Given the description of an element on the screen output the (x, y) to click on. 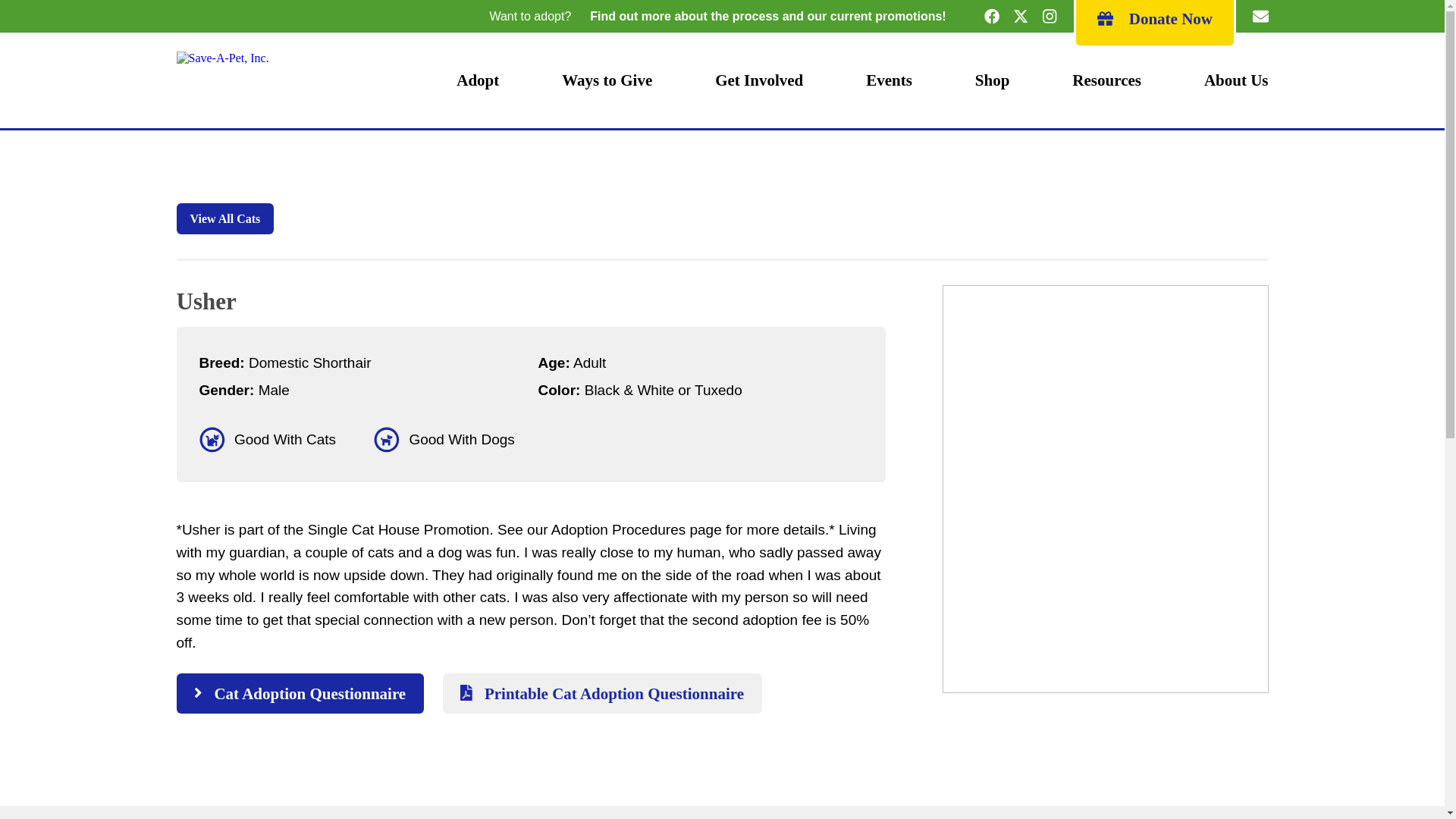
Events (888, 79)
Get Involved (758, 79)
Shop (992, 79)
Ways to Give (606, 79)
Adopt (478, 79)
Find out more about the process and our current promotions! (766, 15)
Donate Now (1154, 16)
